Given the description of an element on the screen output the (x, y) to click on. 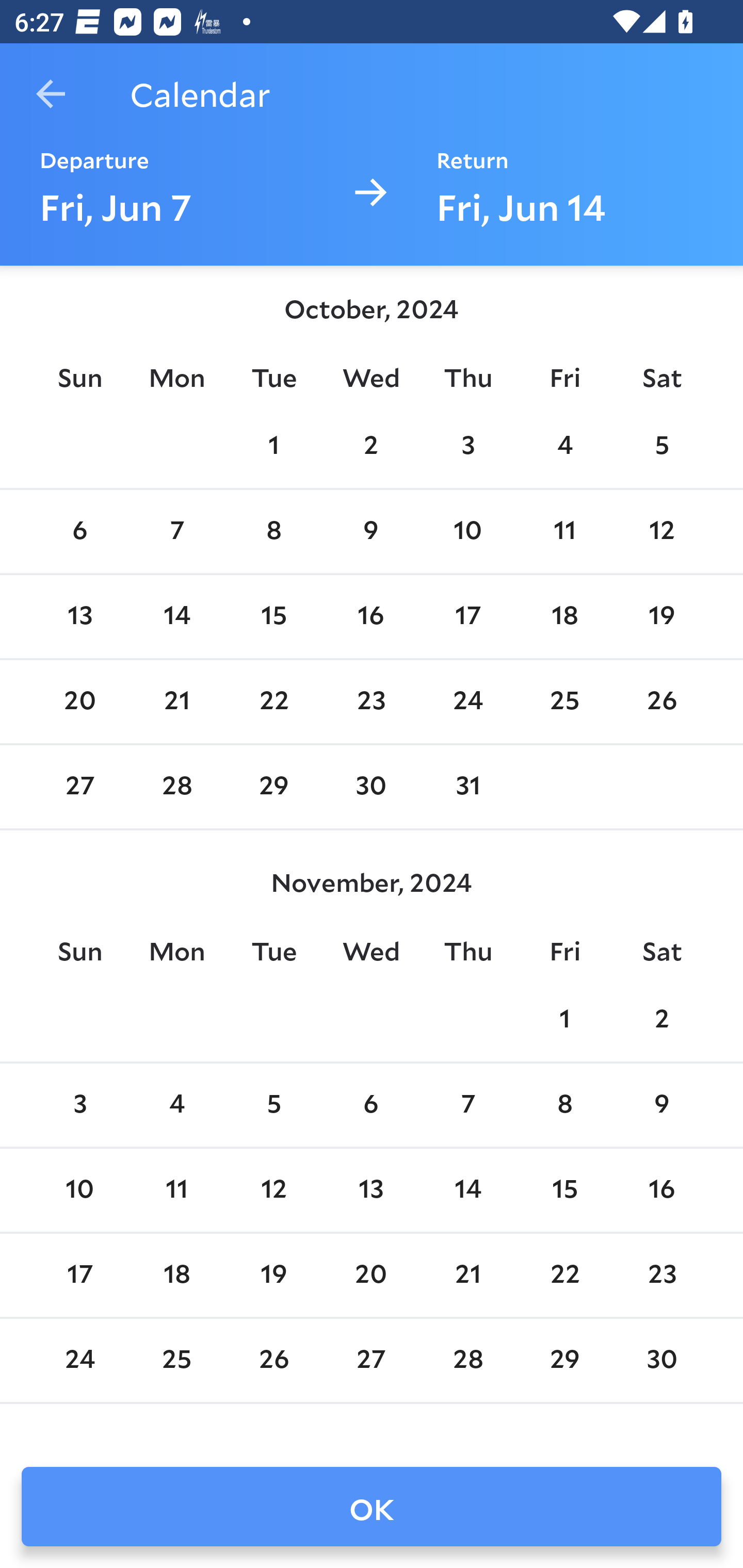
Navigate up (50, 93)
1 (273, 446)
2 (371, 446)
3 (467, 446)
4 (565, 446)
5 (661, 446)
6 (79, 531)
7 (177, 531)
8 (273, 531)
9 (371, 531)
10 (467, 531)
11 (565, 531)
12 (661, 531)
13 (79, 616)
14 (177, 616)
15 (273, 616)
16 (371, 616)
17 (467, 616)
18 (565, 616)
19 (661, 616)
20 (79, 702)
21 (177, 702)
22 (273, 702)
23 (371, 702)
24 (467, 702)
25 (565, 702)
26 (661, 702)
27 (79, 787)
28 (177, 787)
29 (273, 787)
30 (371, 787)
31 (467, 787)
1 (565, 1020)
2 (661, 1020)
3 (79, 1105)
4 (177, 1105)
5 (273, 1105)
6 (371, 1105)
7 (467, 1105)
8 (565, 1105)
9 (661, 1105)
10 (79, 1190)
11 (177, 1190)
12 (273, 1190)
13 (371, 1190)
14 (467, 1190)
15 (565, 1190)
16 (661, 1190)
17 (79, 1275)
18 (177, 1275)
